Given the description of an element on the screen output the (x, y) to click on. 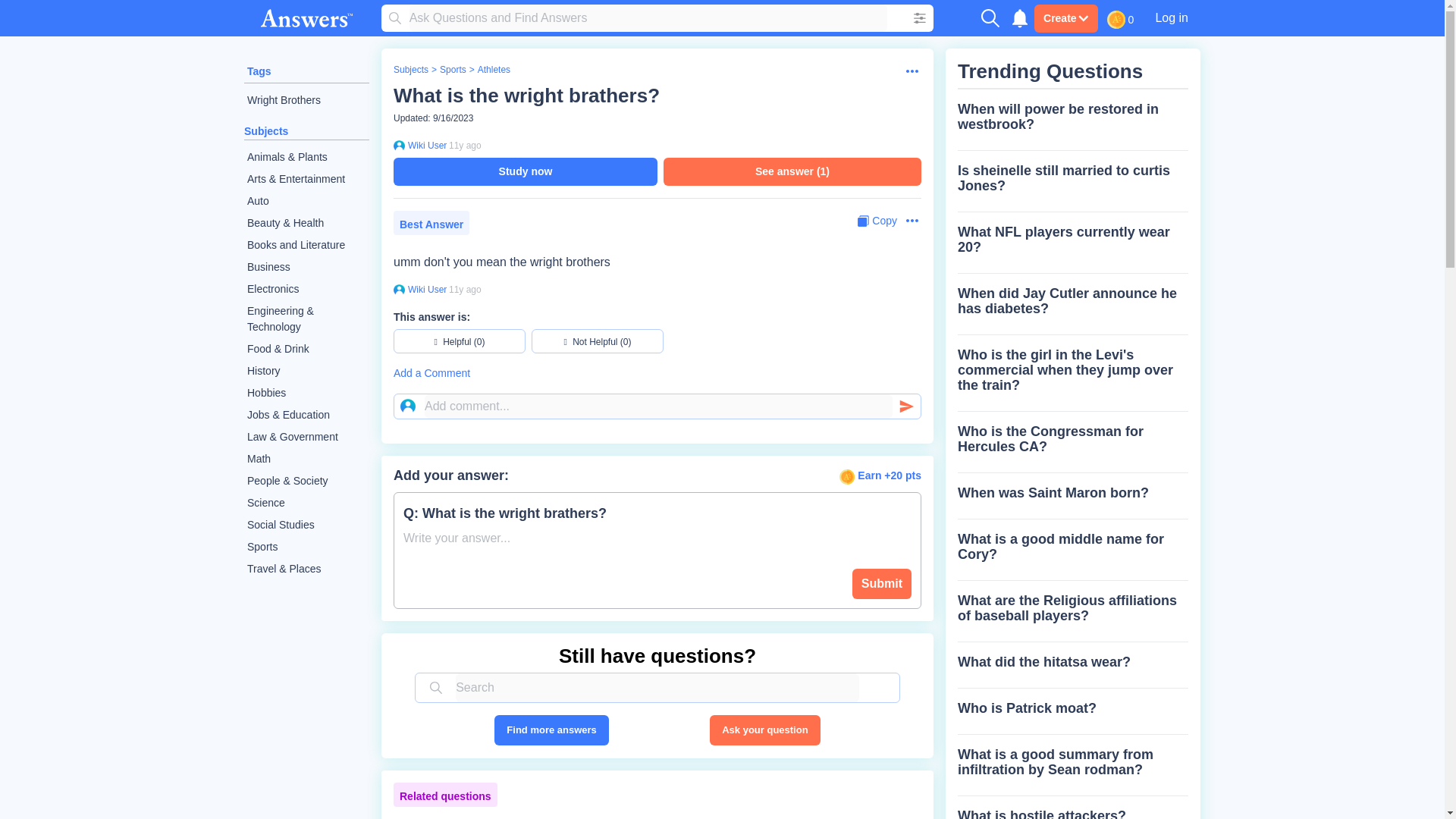
Tags (258, 70)
Ask your question (764, 729)
Create (1065, 18)
History (306, 371)
Auto (306, 201)
Social Studies (306, 525)
Log in (1170, 17)
Science (306, 503)
Subjects (410, 69)
Sports (306, 546)
What is the wright brathers? (526, 95)
Study now (525, 171)
Books and Literature (306, 245)
Copy (876, 220)
2012-10-24 03:02:27 (464, 145)
